Given the description of an element on the screen output the (x, y) to click on. 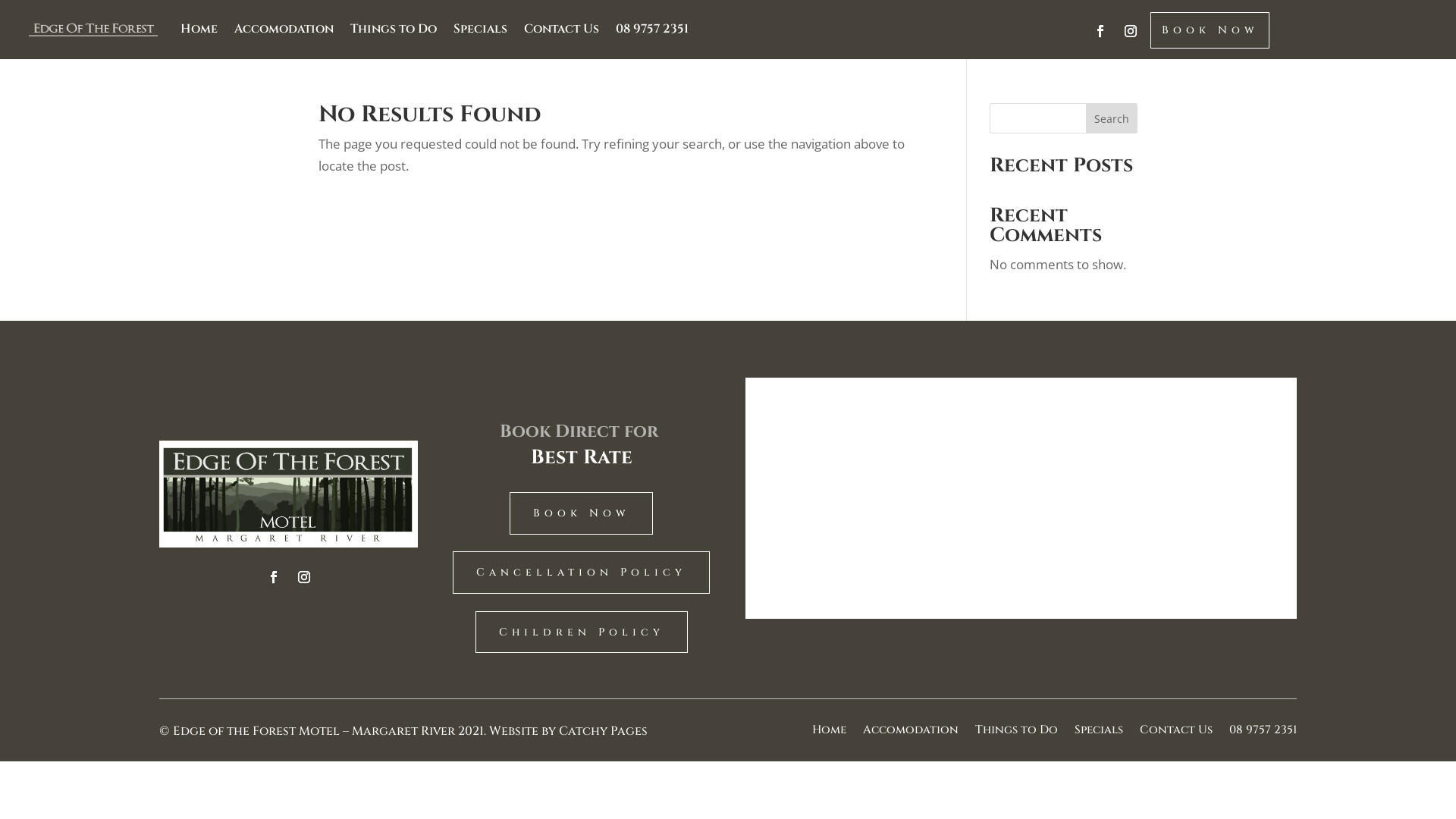
Specials Element type: text (1098, 732)
Follow on Facebook Element type: hover (1100, 30)
Book Now Element type: text (1209, 30)
Children Policy Element type: text (581, 632)
Book Now Element type: text (580, 513)
Cancellation Policy Element type: text (580, 572)
Specials Element type: text (480, 28)
Contact Us Element type: text (1175, 732)
Things to Do Element type: text (393, 28)
edge of the forest logo Element type: hover (288, 494)
Home Element type: text (198, 28)
Follow on Instagram Element type: hover (1130, 30)
08 9757 2351 Element type: text (1262, 732)
Search Element type: text (1111, 118)
Accomodation Element type: text (910, 732)
Home Element type: text (829, 732)
Accomodation Element type: text (283, 28)
08 9757 2351 Element type: text (651, 28)
Follow on Facebook Element type: hover (273, 576)
Things to Do Element type: text (1016, 732)
Catchy Pages Element type: text (602, 730)
Contact Us Element type: text (561, 28)
Follow on Instagram Element type: hover (303, 576)
